Given the description of an element on the screen output the (x, y) to click on. 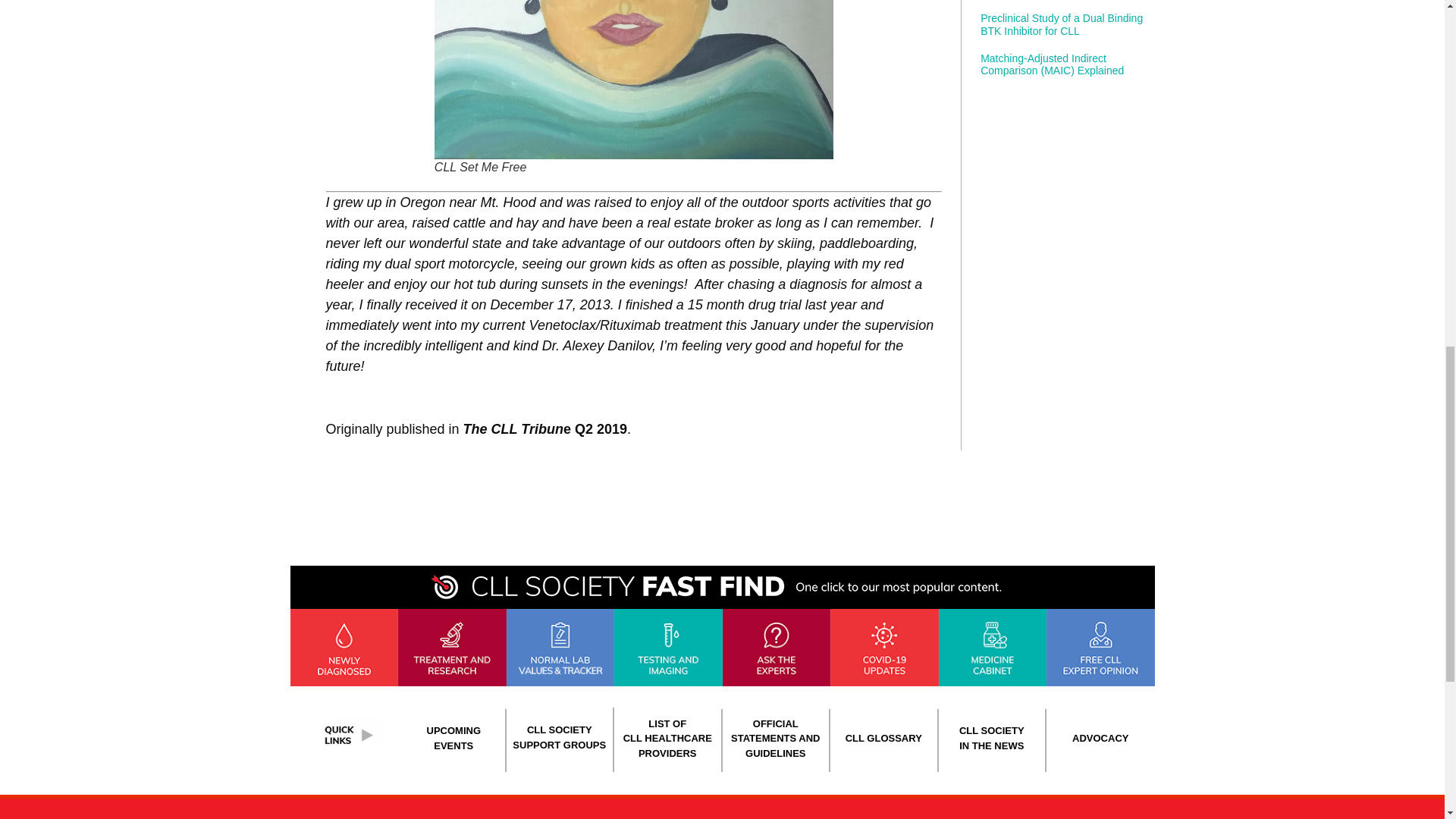
xFINAL Treatment And Research 107 (451, 647)
xFINAL Free CLL Expwert Opinion 107 (1100, 647)
quicklinks (348, 734)
